Given the description of an element on the screen output the (x, y) to click on. 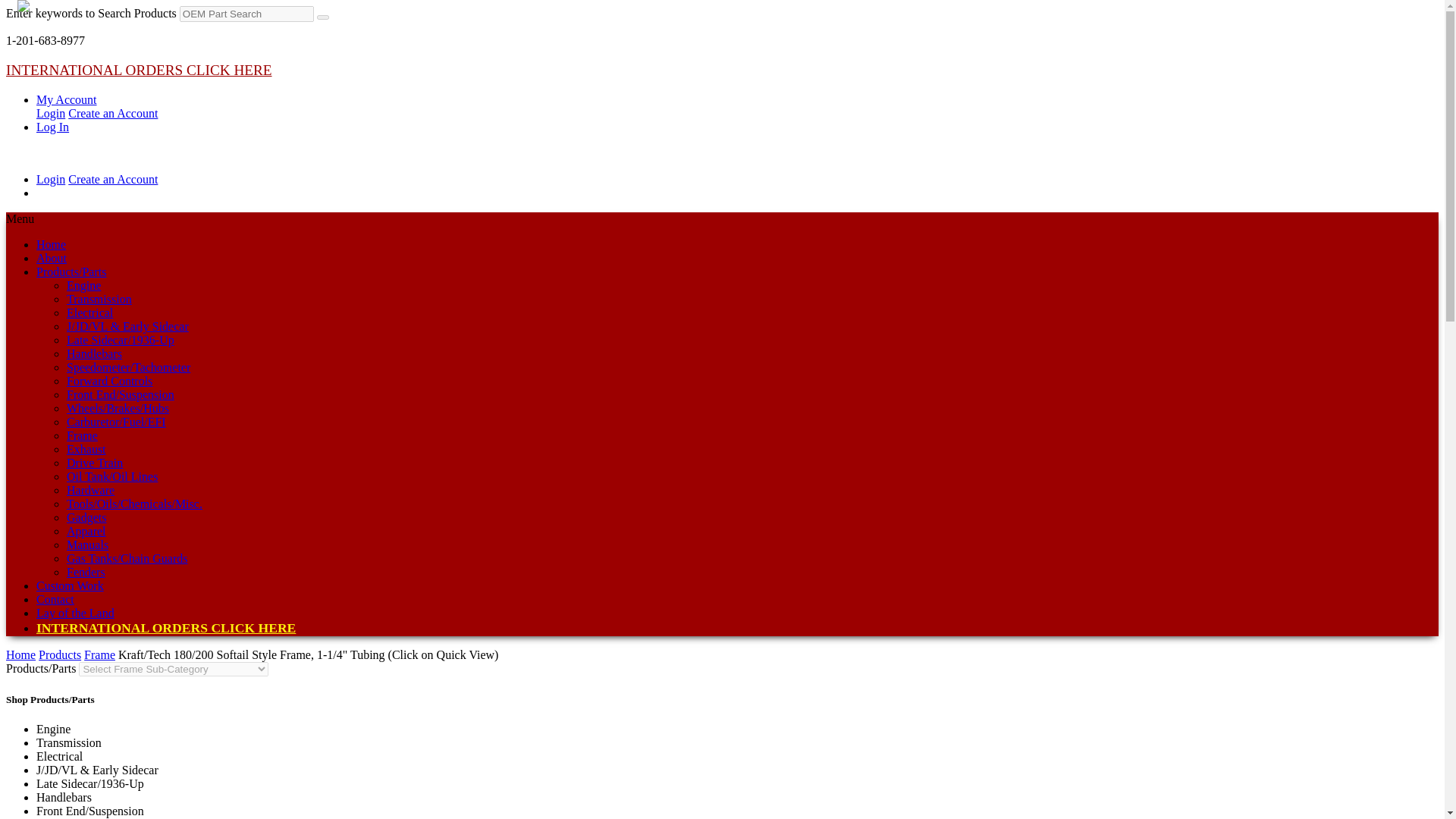
Apparel (86, 530)
Go (323, 17)
Lay of the Land (75, 612)
Electrical (89, 312)
Exhaust (86, 449)
Transmission (99, 298)
Log In (52, 126)
Frame (81, 435)
Login (50, 178)
Hardware (90, 490)
Manuals (86, 544)
Fenders (85, 571)
Handlebars (94, 353)
My Account (66, 99)
Custom Work (69, 585)
